Given the description of an element on the screen output the (x, y) to click on. 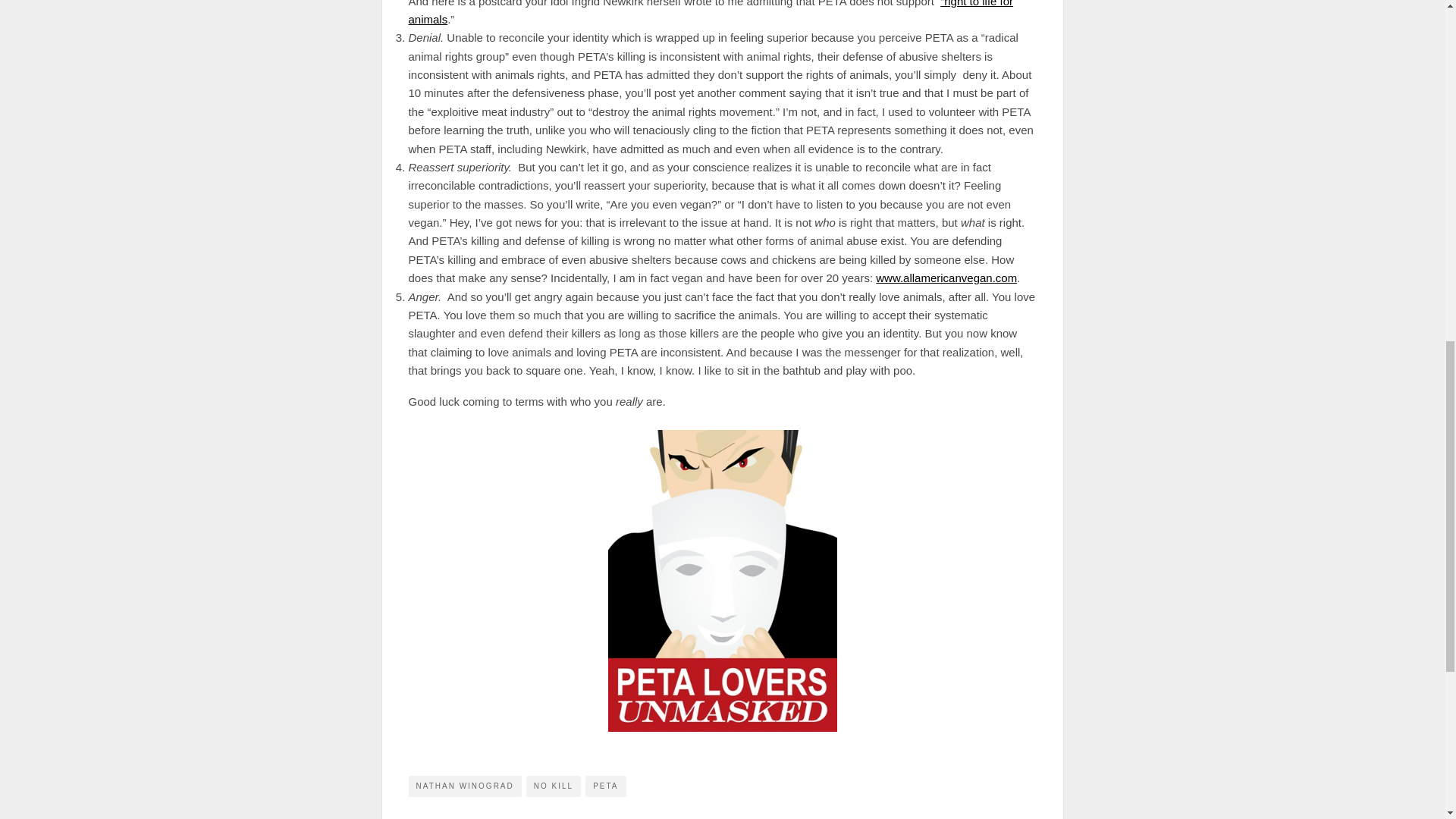
NO KILL (552, 785)
www.allamericanvegan.com (946, 277)
PETA (605, 785)
NATHAN WINOGRAD (464, 785)
